Given the description of an element on the screen output the (x, y) to click on. 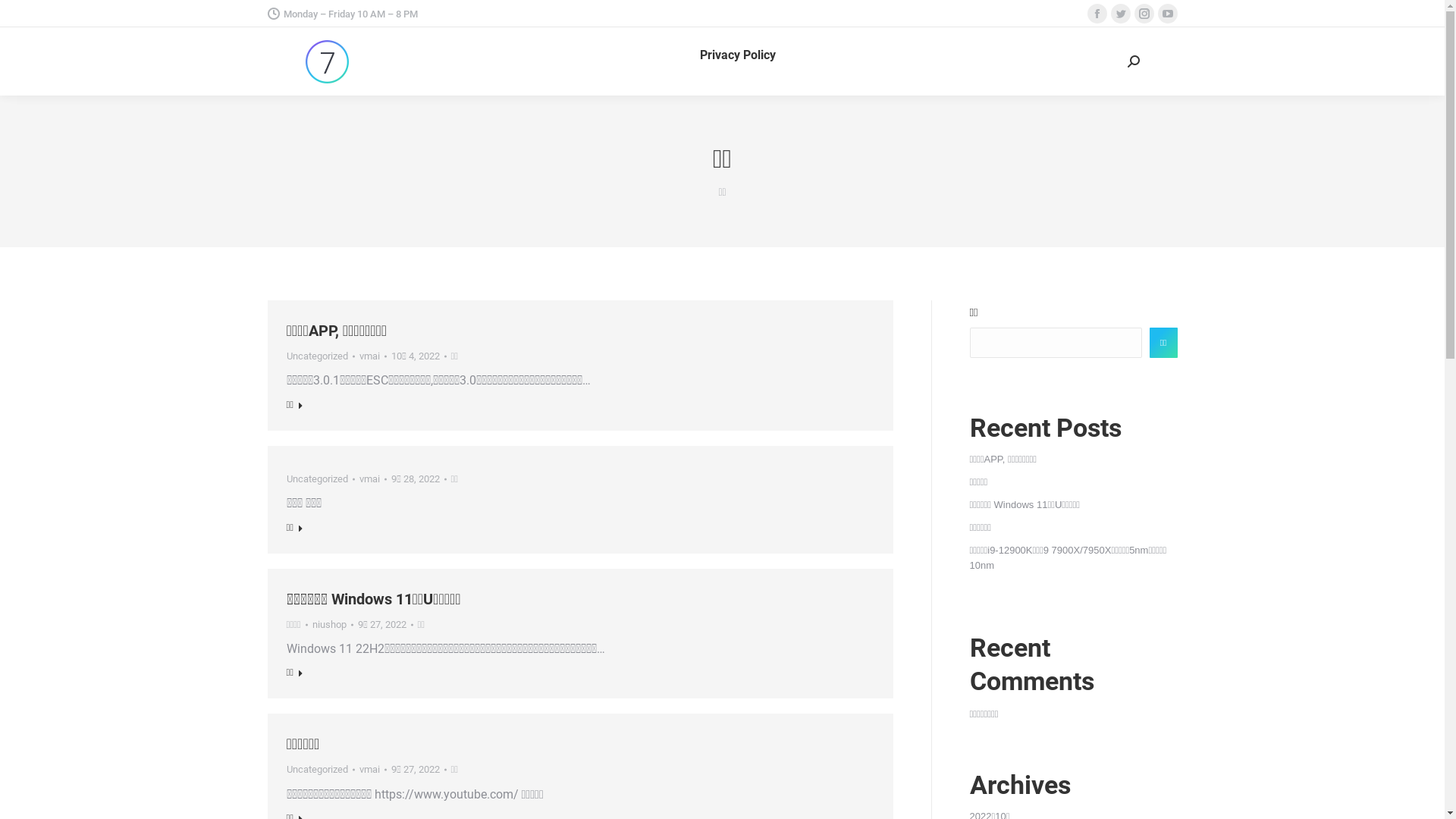
Twitter page opens in new window Element type: text (1119, 13)
vmai Element type: text (372, 769)
YouTube page opens in new window Element type: text (1166, 13)
vmai Element type: text (372, 356)
Uncategorized Element type: text (317, 478)
Uncategorized Element type: text (317, 355)
niushop Element type: text (332, 624)
Instagram page opens in new window Element type: text (1144, 13)
Privacy Policy Element type: text (737, 54)
vmai Element type: text (372, 479)
Go! Element type: text (23, 16)
Facebook page opens in new window Element type: text (1097, 13)
Uncategorized Element type: text (317, 769)
